Given the description of an element on the screen output the (x, y) to click on. 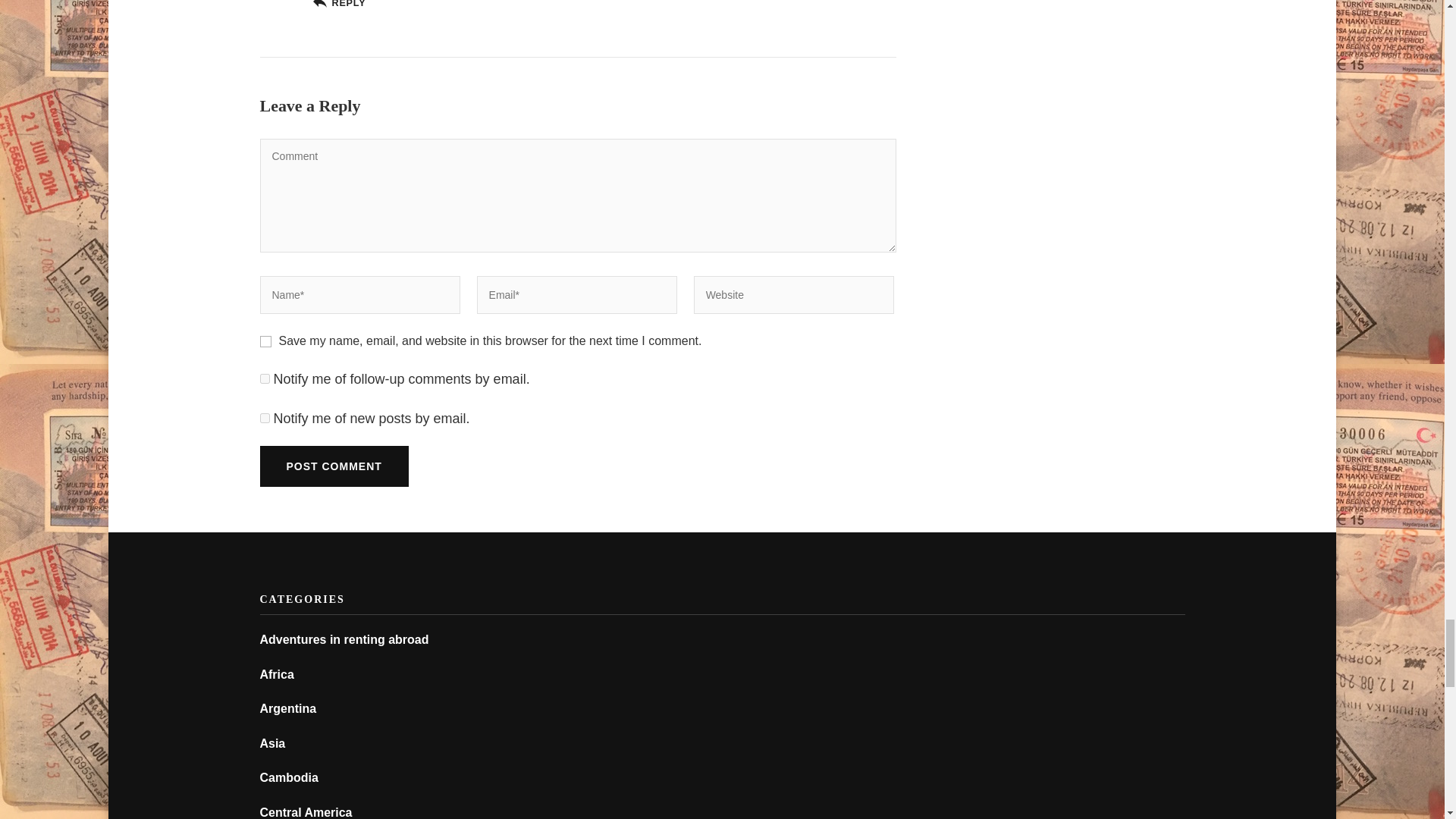
subscribe (264, 418)
subscribe (264, 378)
Post Comment (333, 465)
